Given the description of an element on the screen output the (x, y) to click on. 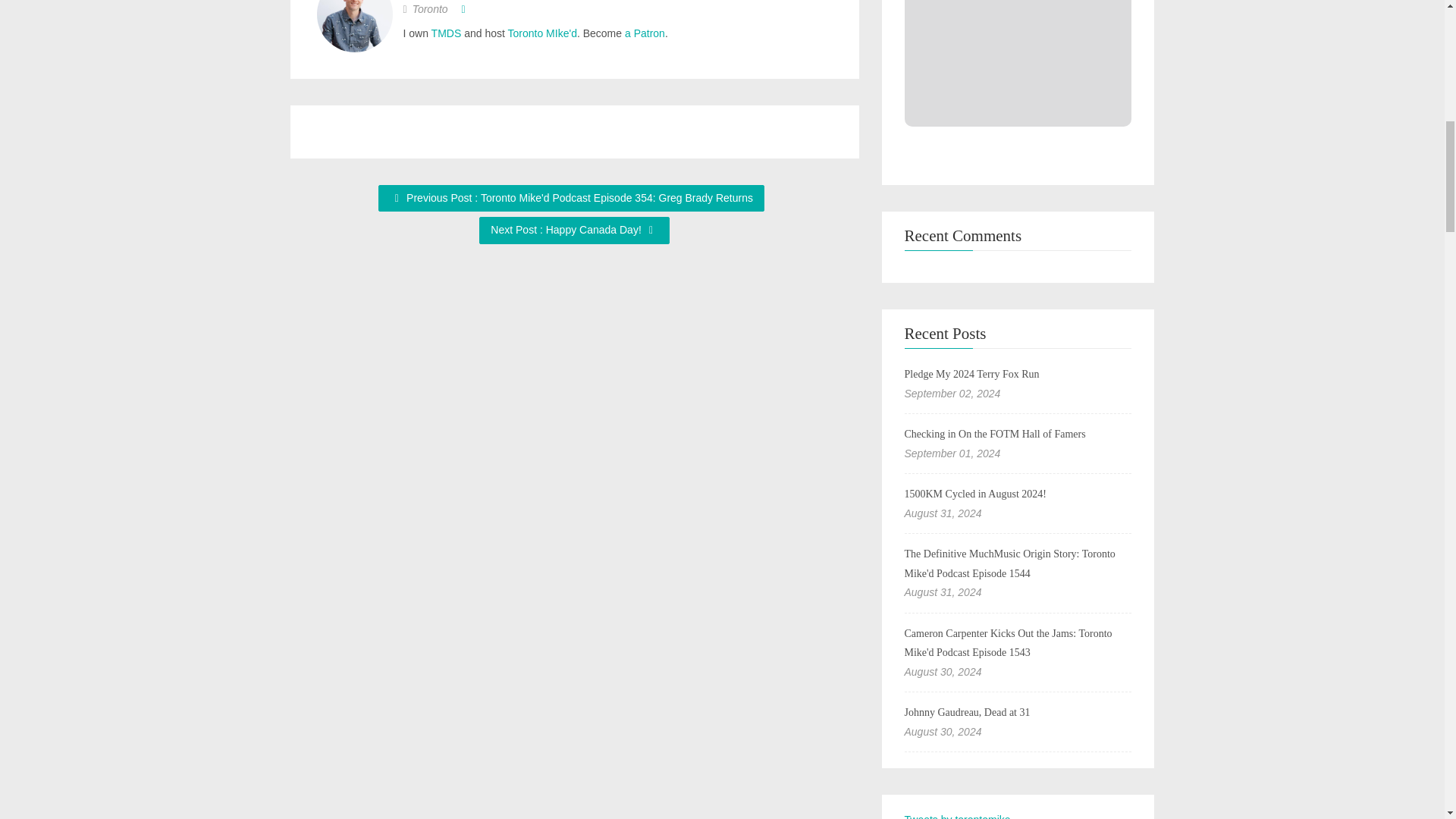
Checking in On the FOTM Hall of Famers (994, 433)
Pledge My 2024 Terry Fox Run (971, 374)
a Patron (644, 33)
TMDS (445, 33)
Next Post : Happy Canada Day! (573, 230)
Toronto MIke'd (542, 33)
